Given the description of an element on the screen output the (x, y) to click on. 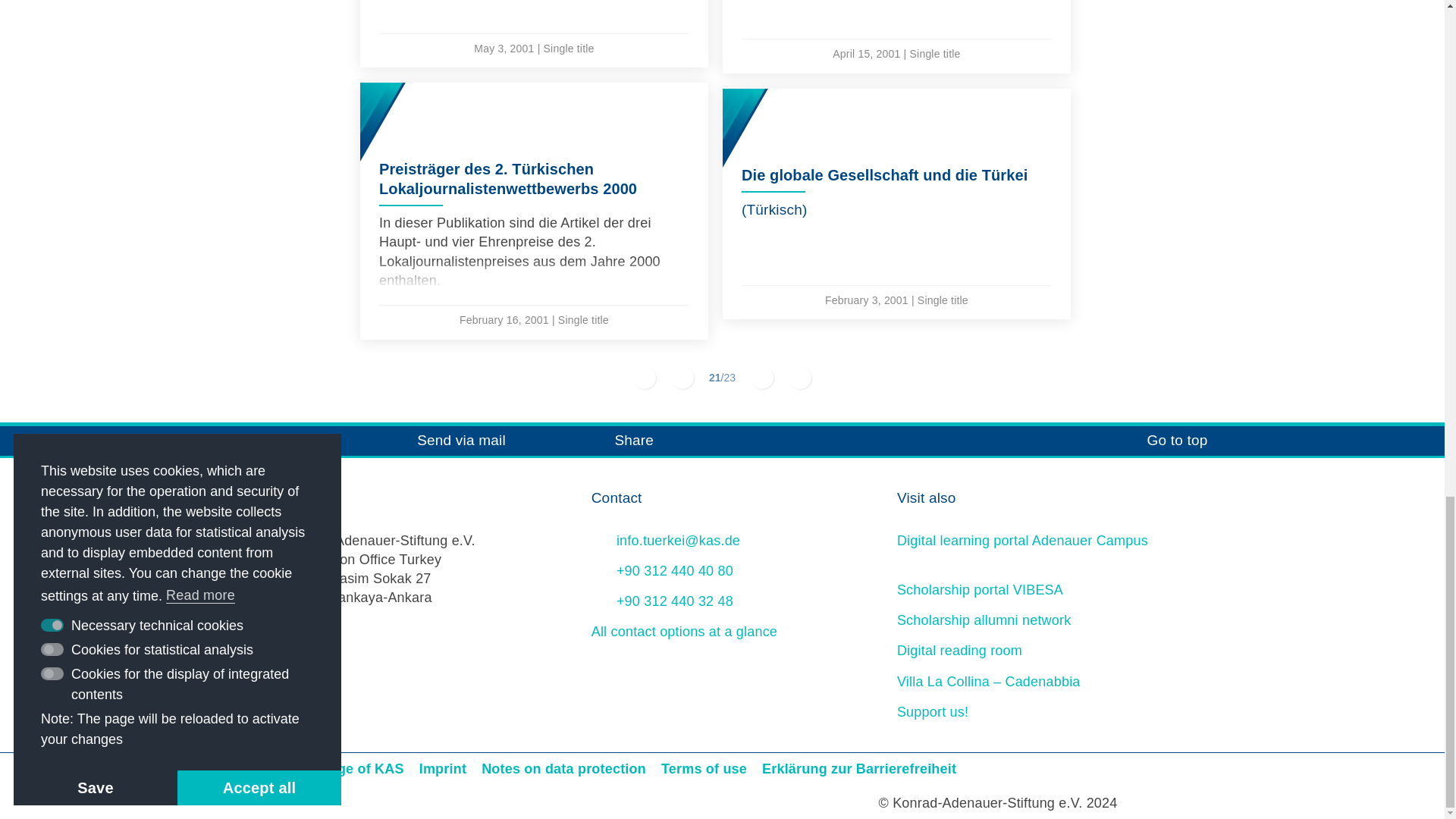
Share (613, 440)
Globalisierung (533, 33)
Print (271, 440)
Send via mail (440, 440)
